Given the description of an element on the screen output the (x, y) to click on. 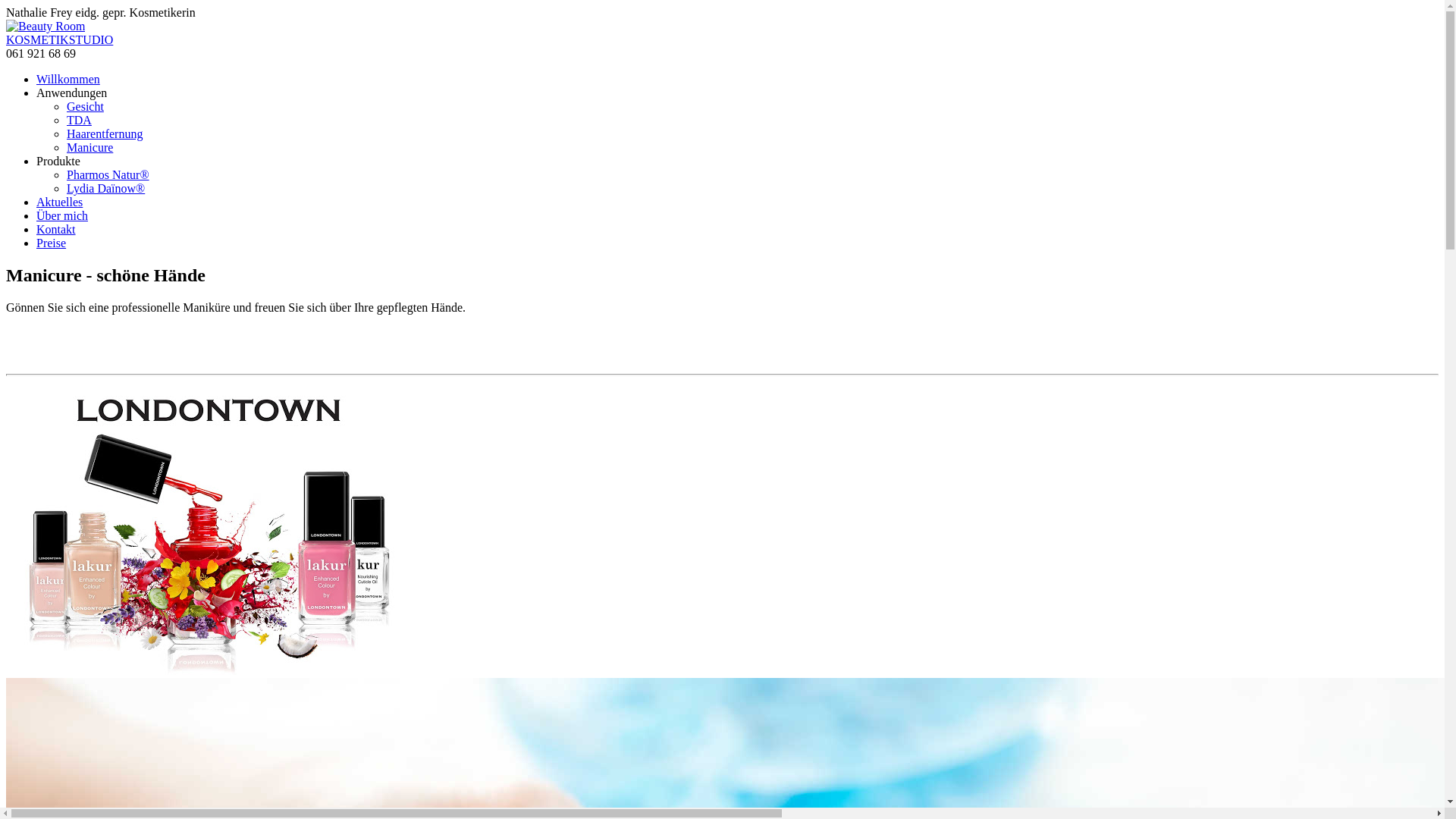
Preise Element type: text (50, 242)
Aktuelles Element type: text (59, 201)
TDA Element type: text (78, 119)
Gesicht Element type: text (84, 106)
Manicure Element type: text (89, 147)
KOSMETIKSTUDIO Element type: text (59, 39)
Haarentfernung Element type: text (104, 133)
Willkommen Element type: text (68, 78)
Kontakt Element type: text (55, 228)
